Given the description of an element on the screen output the (x, y) to click on. 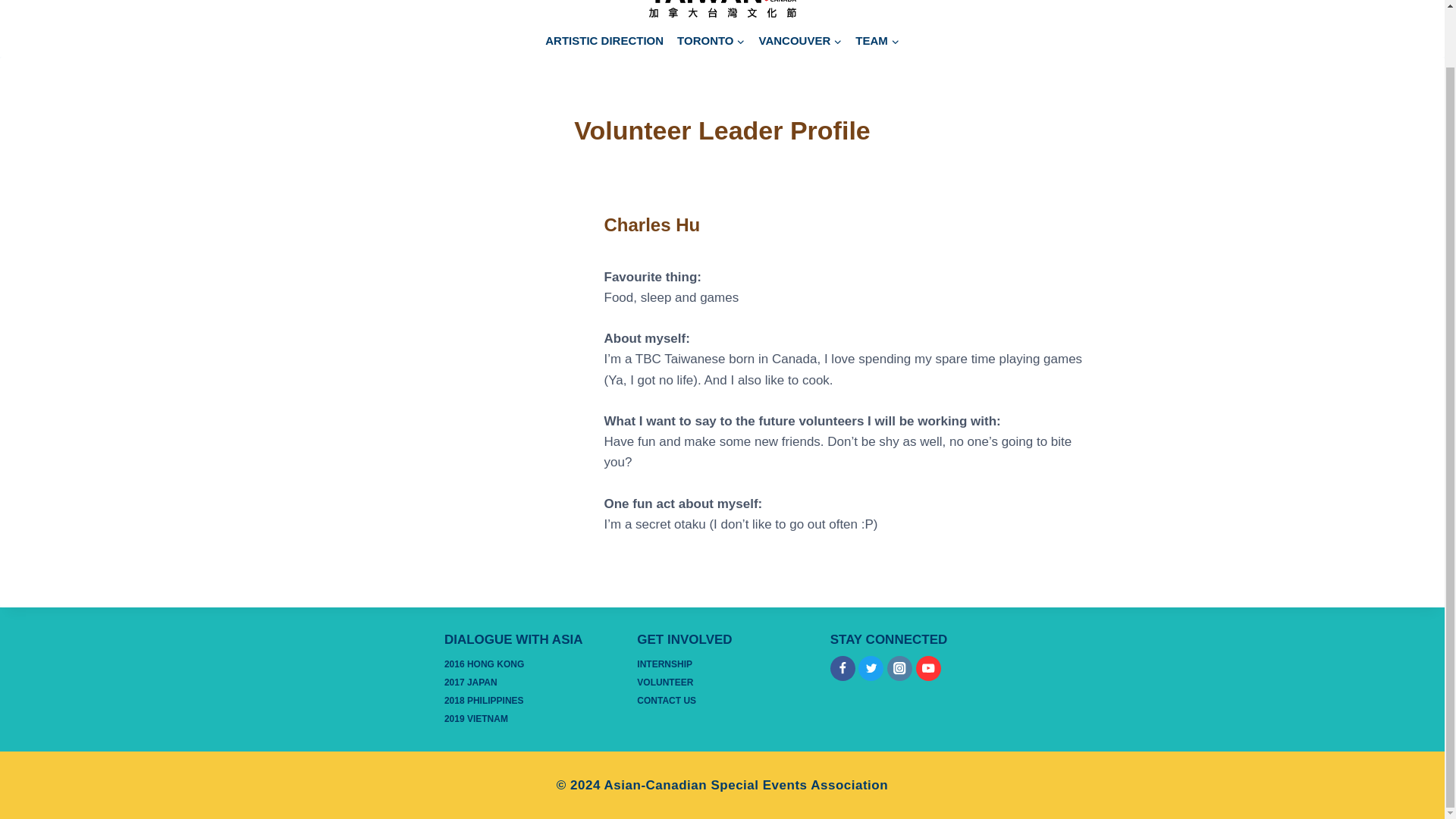
VOLUNTEER (721, 683)
TEAM (876, 40)
VANCOUVER (800, 40)
2019 VIETNAM (529, 719)
ARTISTIC DIRECTION (603, 40)
INTERNSHIP (721, 665)
CONTACT US (721, 701)
2016 HONG KONG (529, 665)
2017 JAPAN (529, 683)
TORONTO (710, 40)
